Given the description of an element on the screen output the (x, y) to click on. 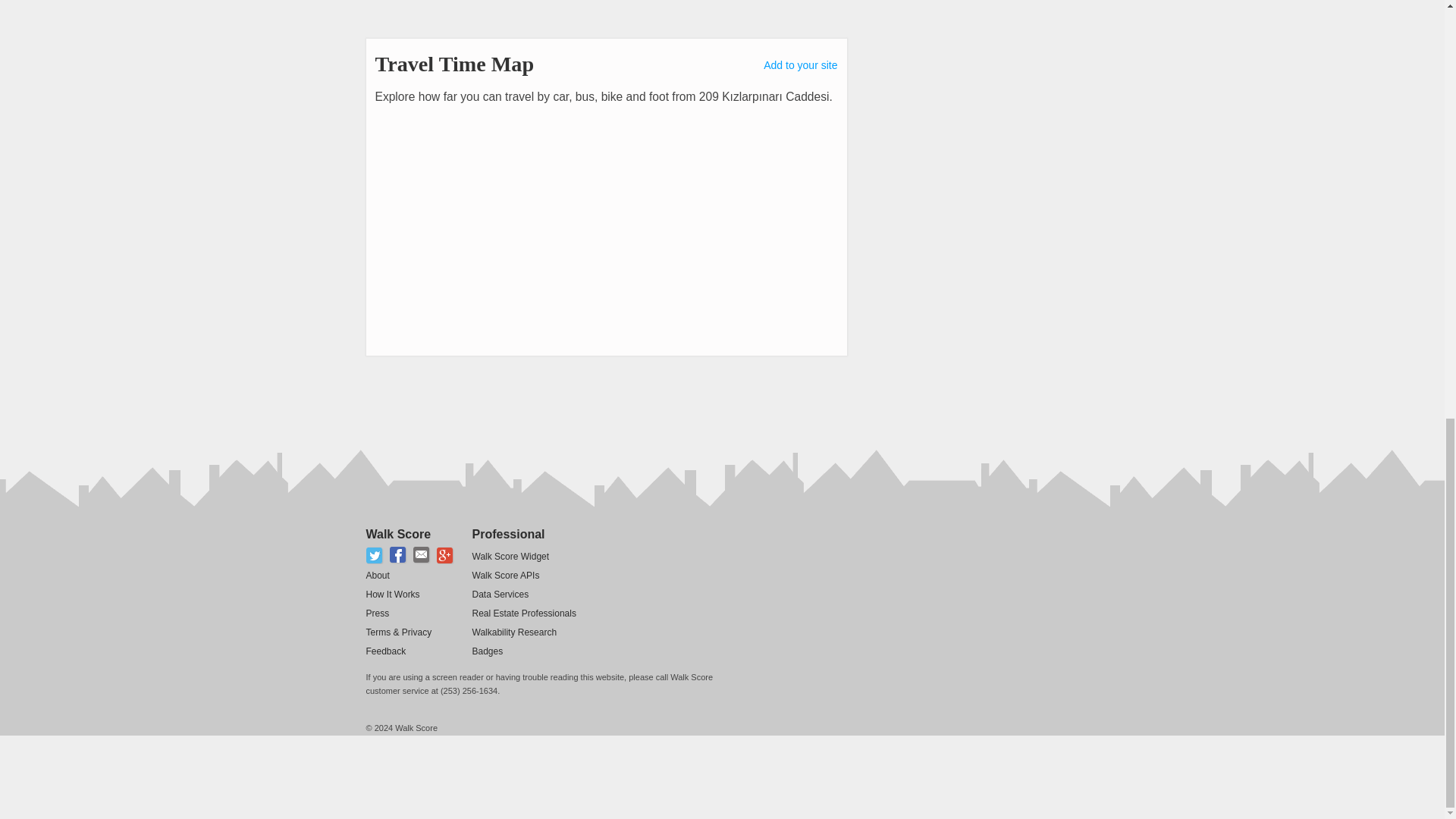
Feedback (385, 651)
About (376, 575)
Add to your site (799, 64)
Professional (507, 533)
Walk Score Widget (509, 556)
Press (376, 613)
Walk Score (397, 533)
How It Works (392, 593)
